Given the description of an element on the screen output the (x, y) to click on. 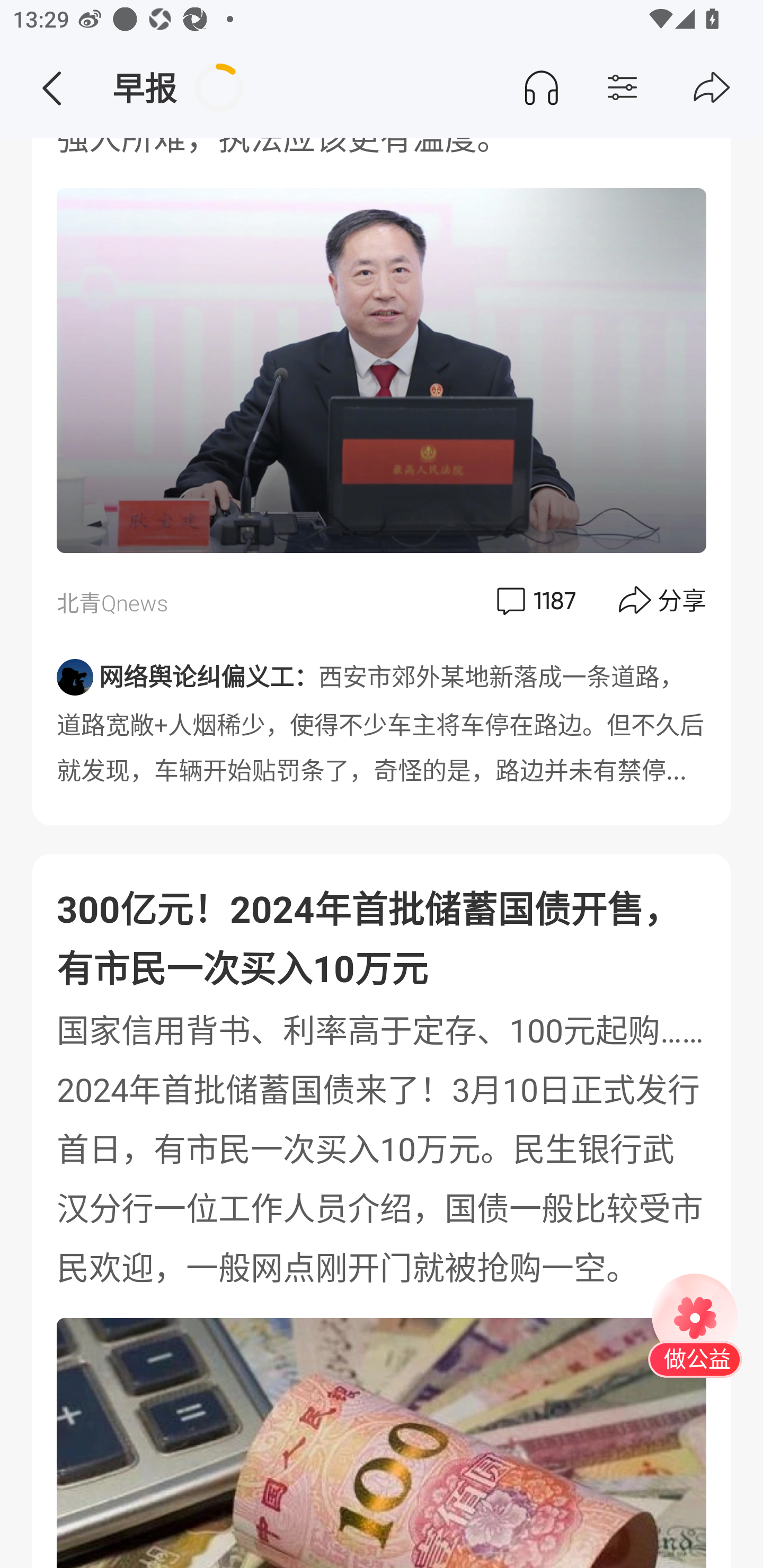
 (50, 87)
 (656, 87)
 (711, 87)
评论  1187 (534, 600)
 分享 (663, 600)
